Given the description of an element on the screen output the (x, y) to click on. 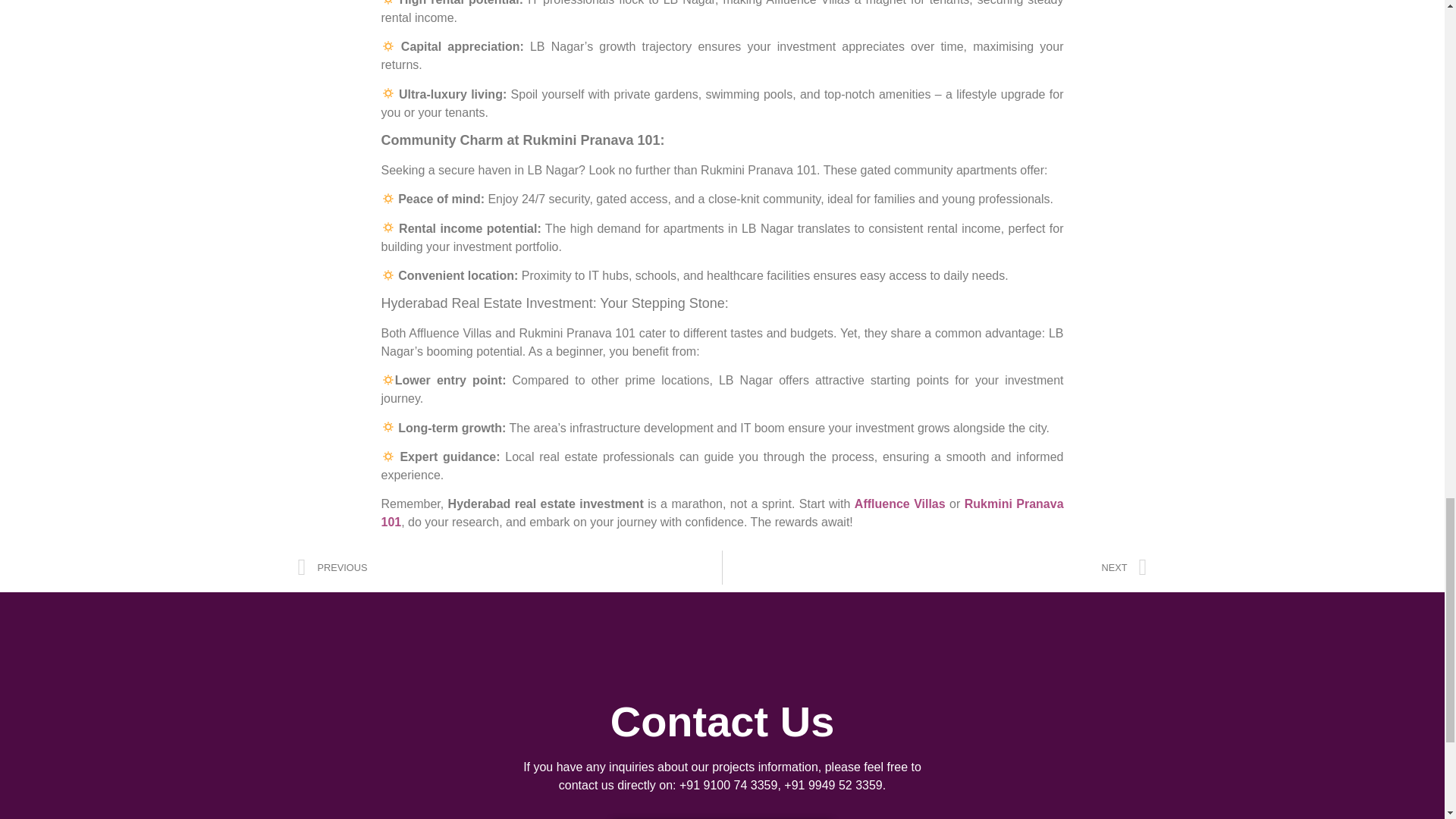
Rukmini Pranava 101 (721, 512)
NEXT (934, 567)
PREVIOUS (509, 567)
Affluence Villas (901, 503)
